Given the description of an element on the screen output the (x, y) to click on. 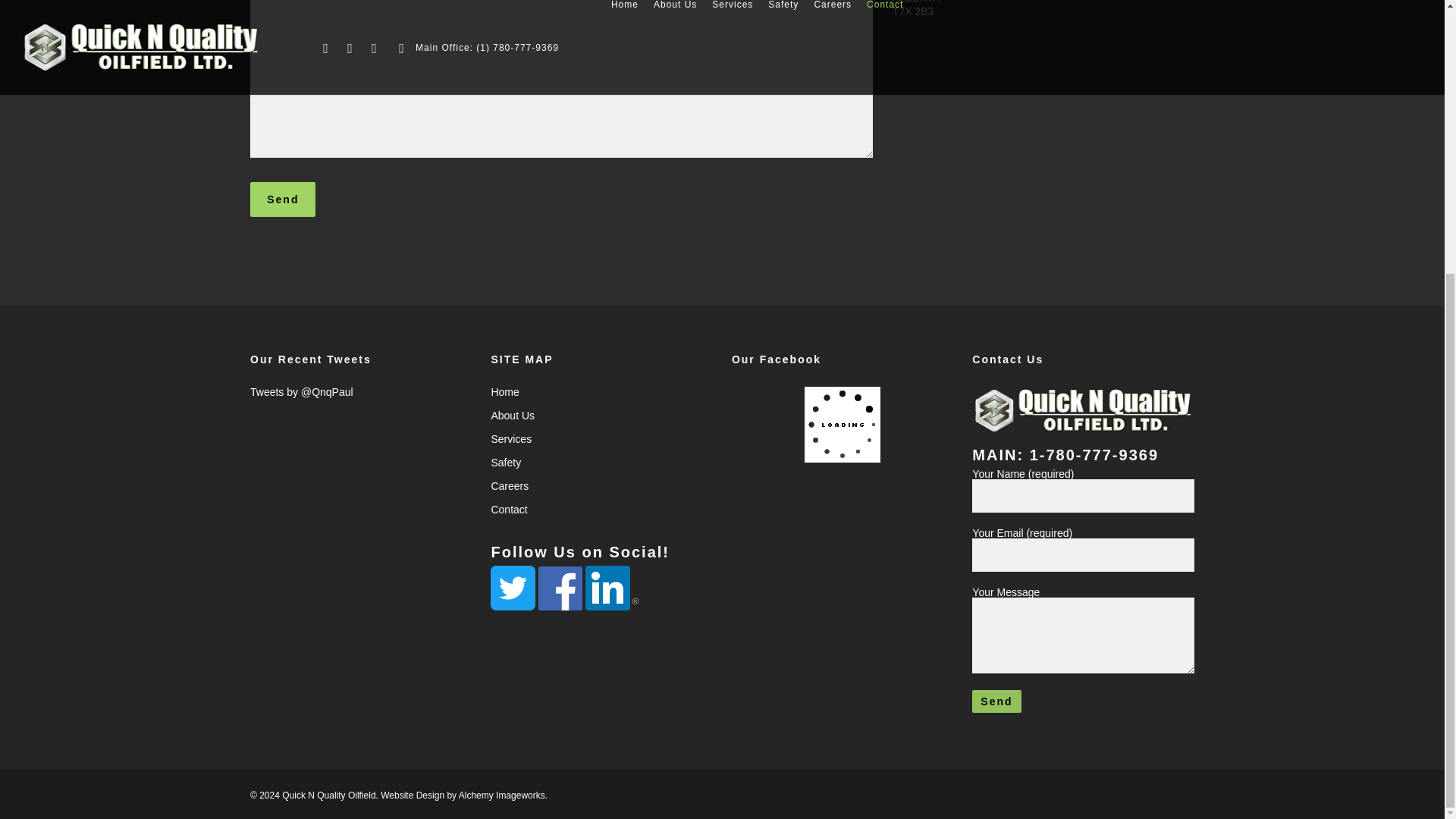
Send (996, 701)
Send (996, 701)
Contact (601, 508)
Send (282, 199)
Send (282, 199)
Services (601, 438)
Home (601, 394)
Careers (601, 486)
Alchemy Imageworks (501, 795)
About Us (601, 414)
